Given the description of an element on the screen output the (x, y) to click on. 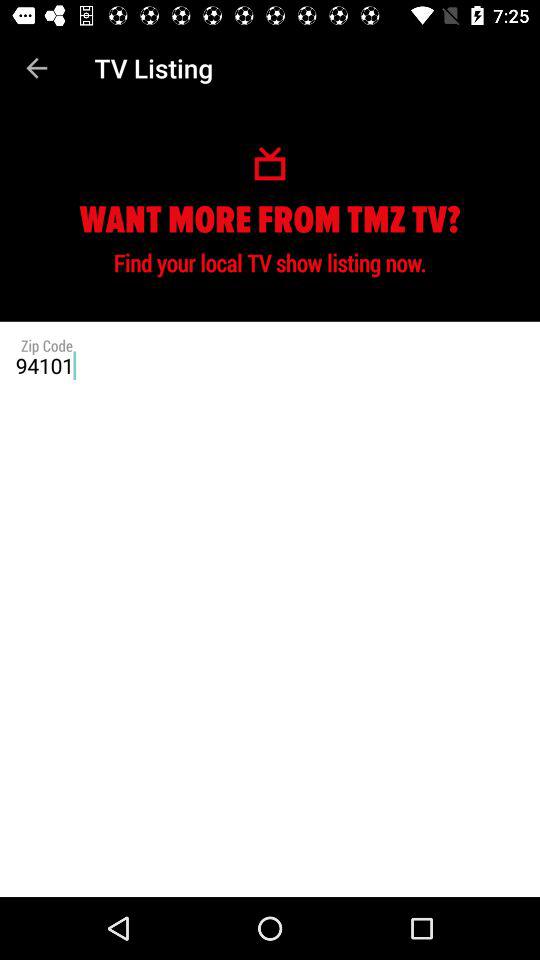
select 94101 (269, 365)
